Given the description of an element on the screen output the (x, y) to click on. 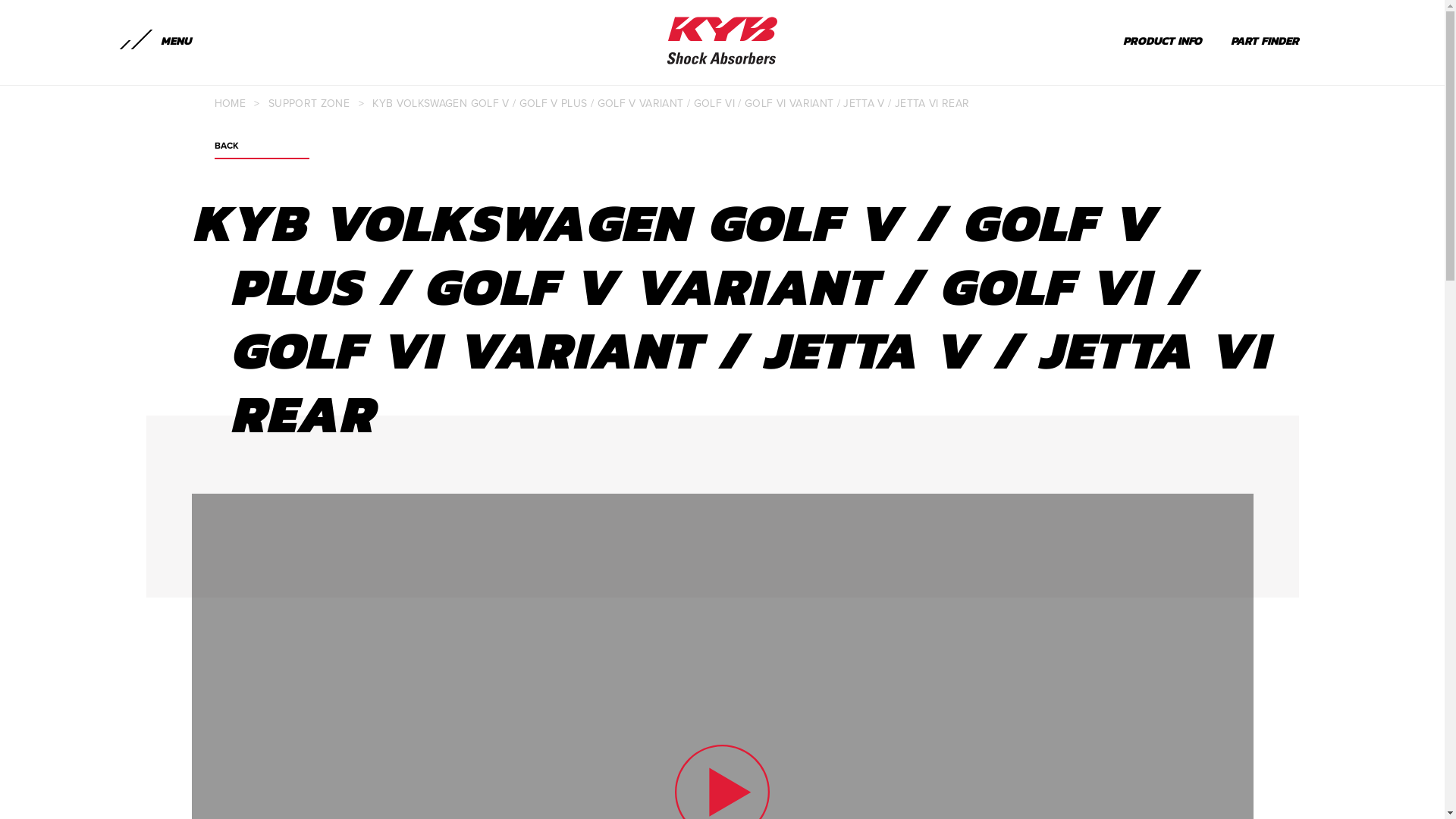
PART FINDER Element type: text (1250, 40)
SUPPORT ZONE Element type: text (308, 103)
HOME Element type: text (228, 103)
BACK Element type: text (260, 150)
